Given the description of an element on the screen output the (x, y) to click on. 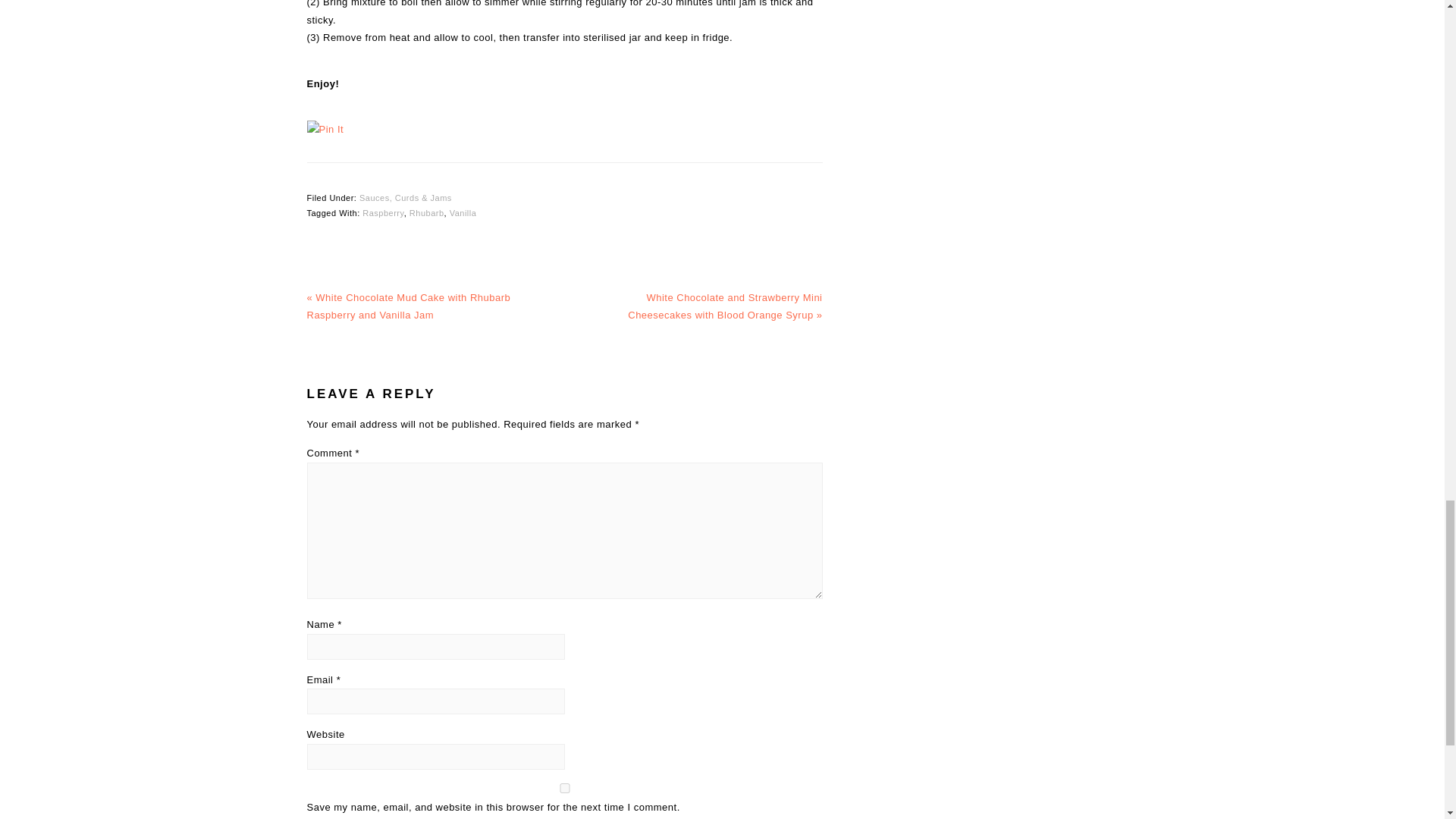
Rhubarb (426, 212)
Vanilla (463, 212)
Raspberry (382, 212)
yes (563, 787)
Pin It (324, 129)
